Given the description of an element on the screen output the (x, y) to click on. 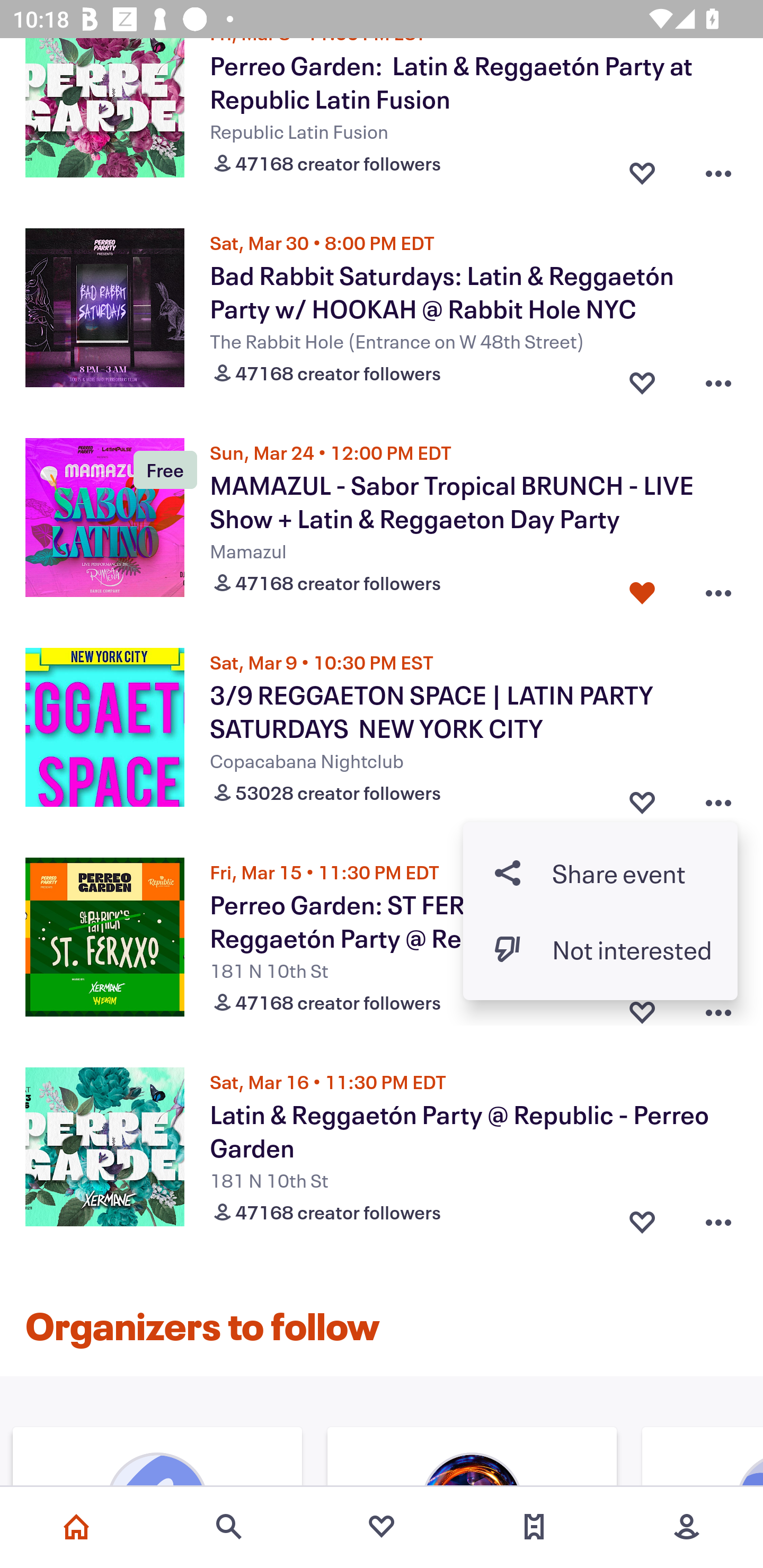
Share button Share event (600, 872)
Dislike event button Not interested (600, 949)
